Given the description of an element on the screen output the (x, y) to click on. 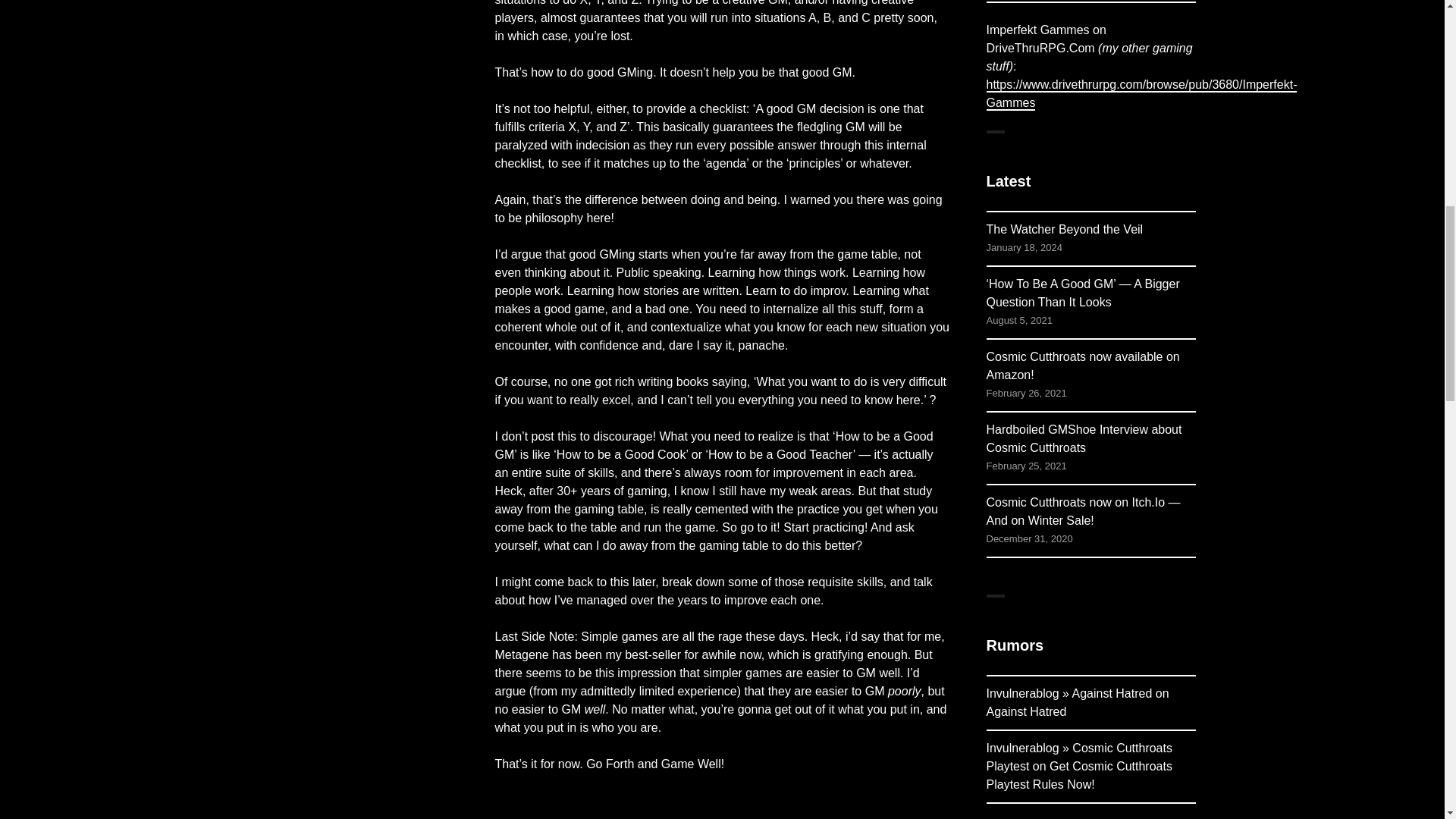
Get Cosmic Cutthroats Playtest Rules Now! (1078, 775)
Hardboiled GMShoe Interview about Cosmic Cutthroats (1082, 438)
Cosmic Cutthroats now available on Amazon! (1082, 365)
The Watcher Beyond the Veil (1063, 228)
Against Hatred (1025, 711)
